Given the description of an element on the screen output the (x, y) to click on. 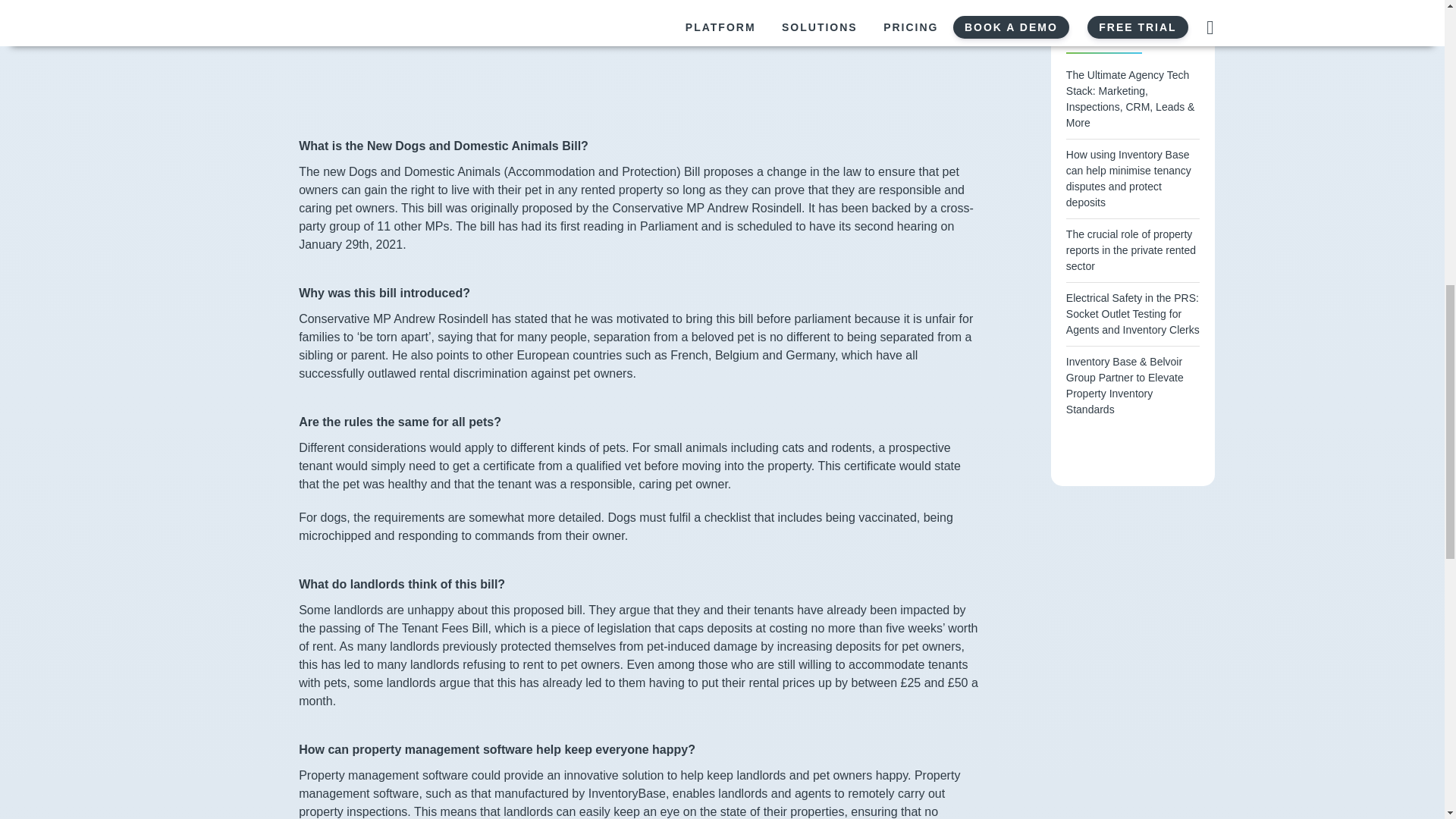
Property management software (384, 775)
